Given the description of an element on the screen output the (x, y) to click on. 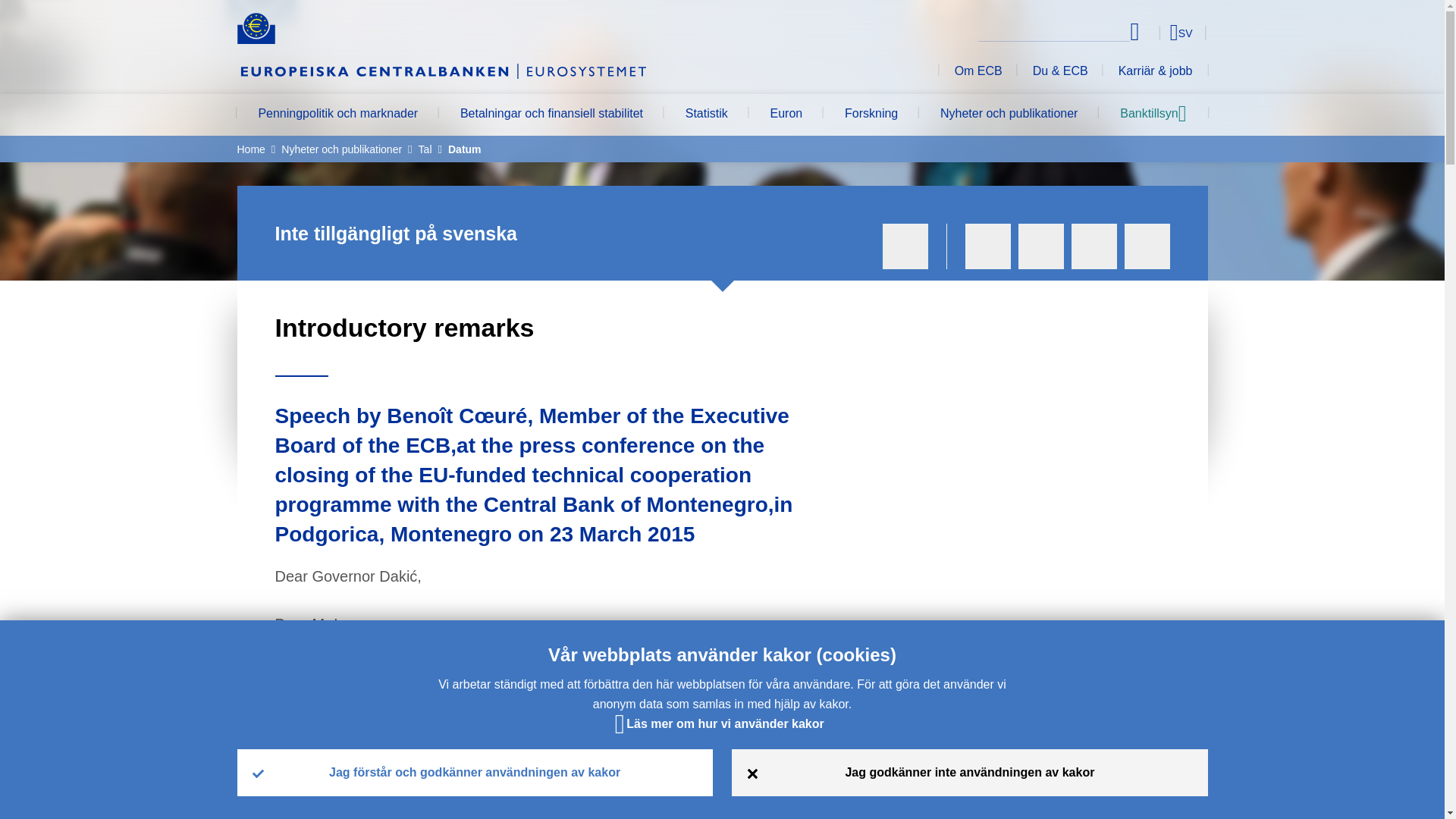
Penningpolitik och marknader (337, 114)
Select language (1153, 32)
